Given the description of an element on the screen output the (x, y) to click on. 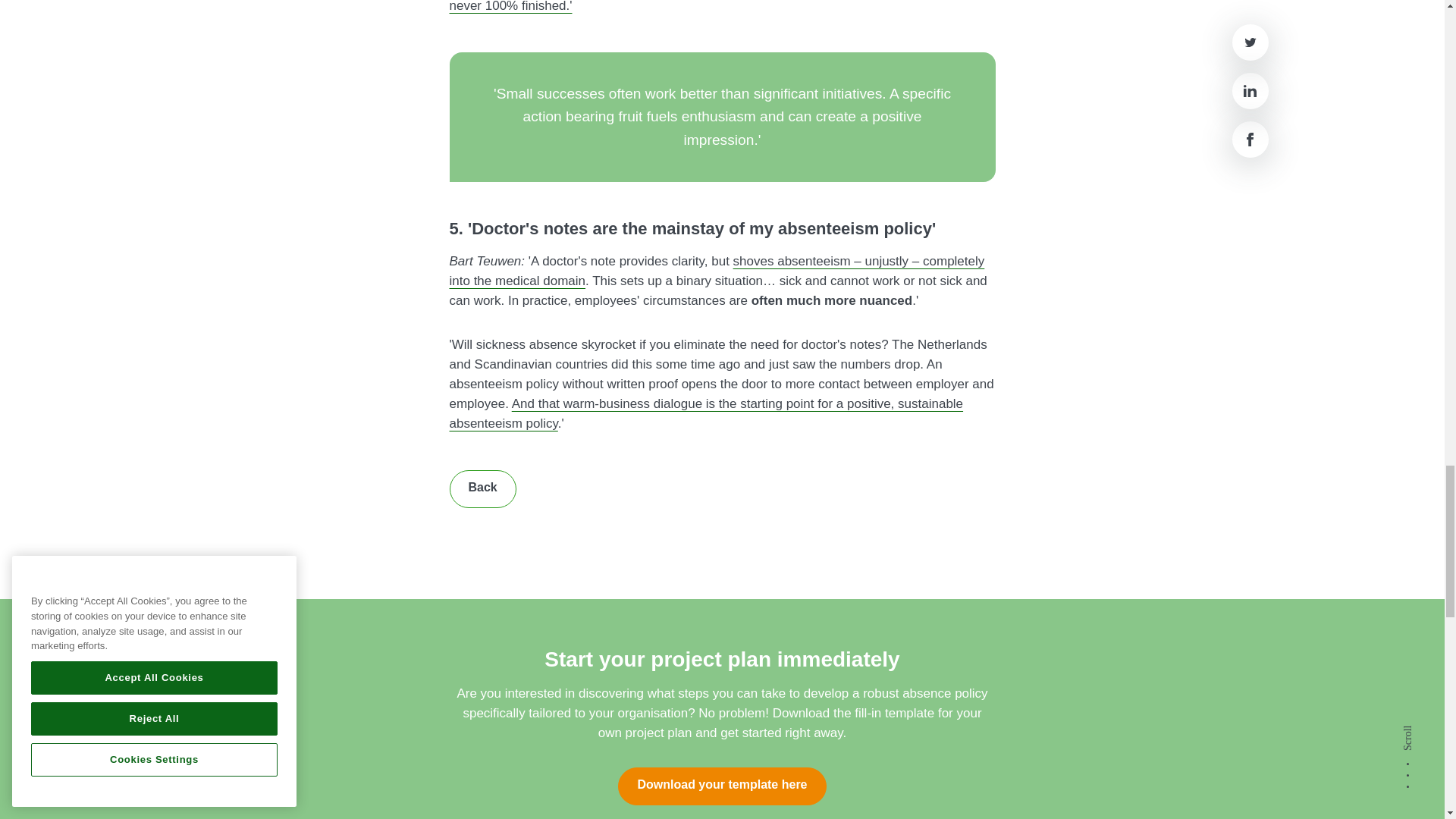
Back (481, 488)
Download your template here (721, 786)
